Given the description of an element on the screen output the (x, y) to click on. 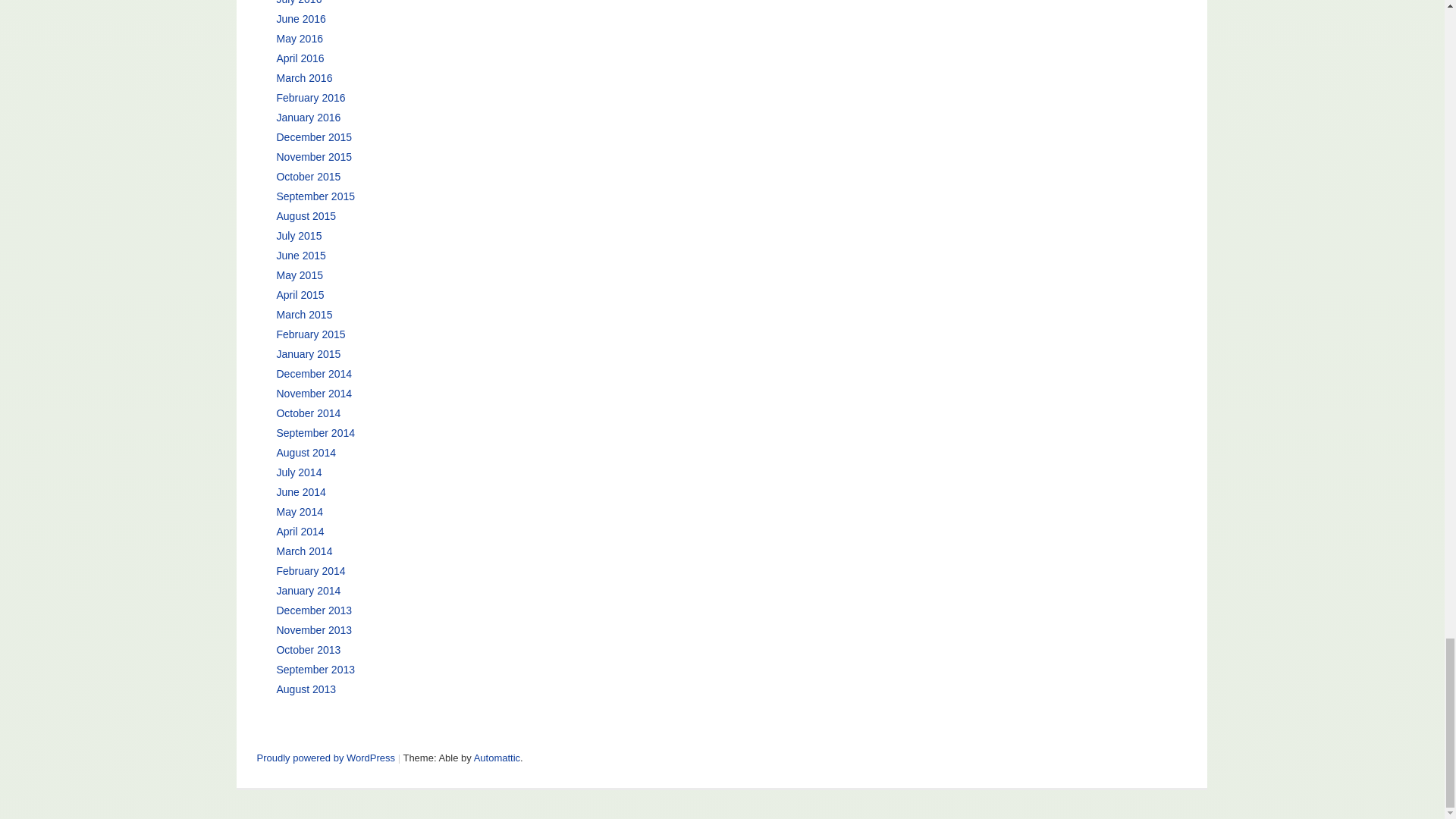
A Semantic Personal Publishing Platform (325, 757)
